Given the description of an element on the screen output the (x, y) to click on. 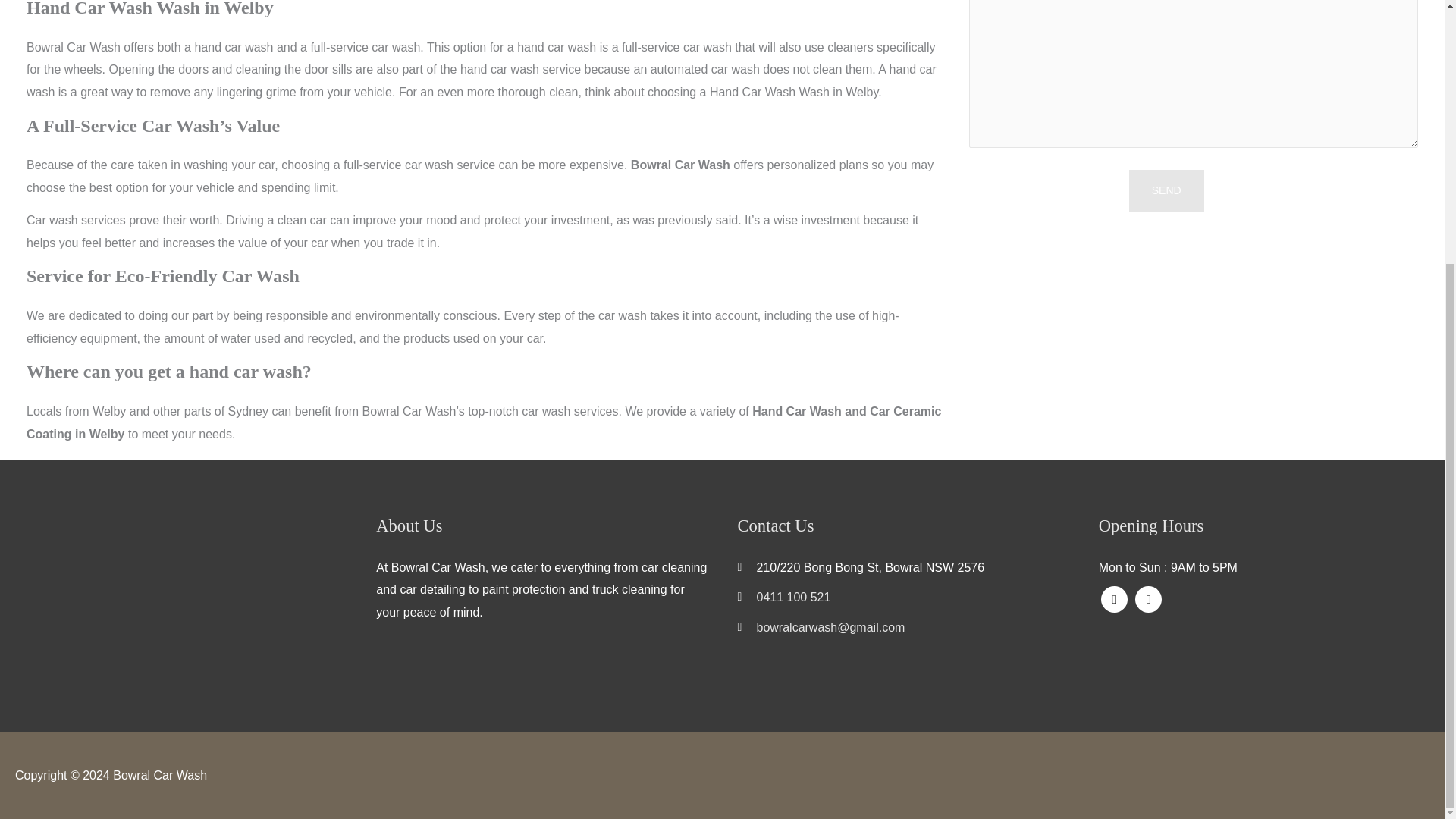
Send (1166, 190)
